Given the description of an element on the screen output the (x, y) to click on. 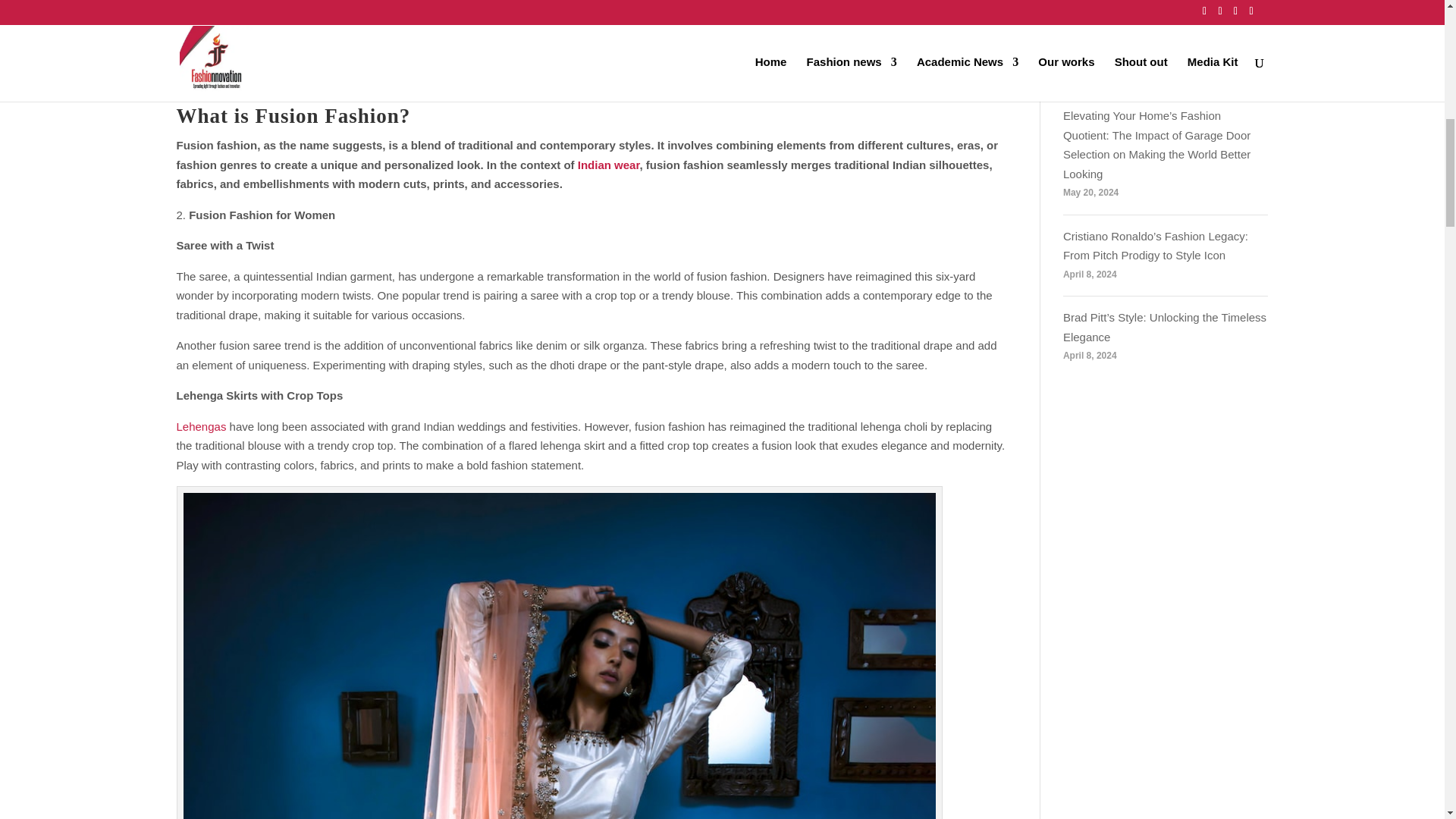
Indian wear (609, 164)
Lehengas (200, 426)
